Given the description of an element on the screen output the (x, y) to click on. 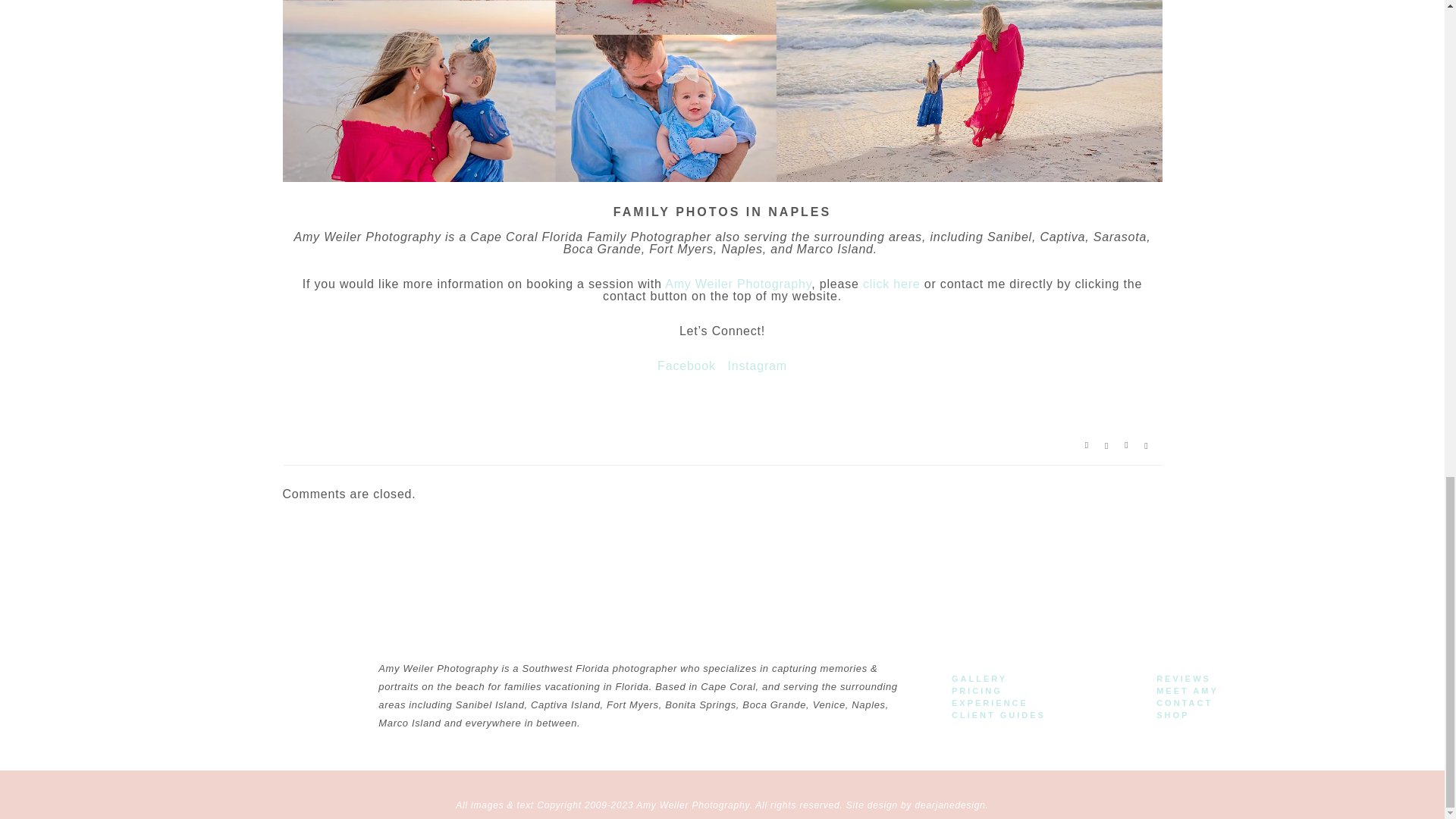
MEET AMY (1187, 691)
CONTACT (1184, 703)
EXPERIENCE (989, 703)
Amy Weiler Photography (737, 283)
Instagram (757, 365)
CLIENT GUIDES (998, 715)
REVIEWS (1183, 678)
click here (891, 283)
PRICING (977, 691)
GALLERY (979, 678)
Facebook (687, 365)
SHOP (1172, 715)
